Given the description of an element on the screen output the (x, y) to click on. 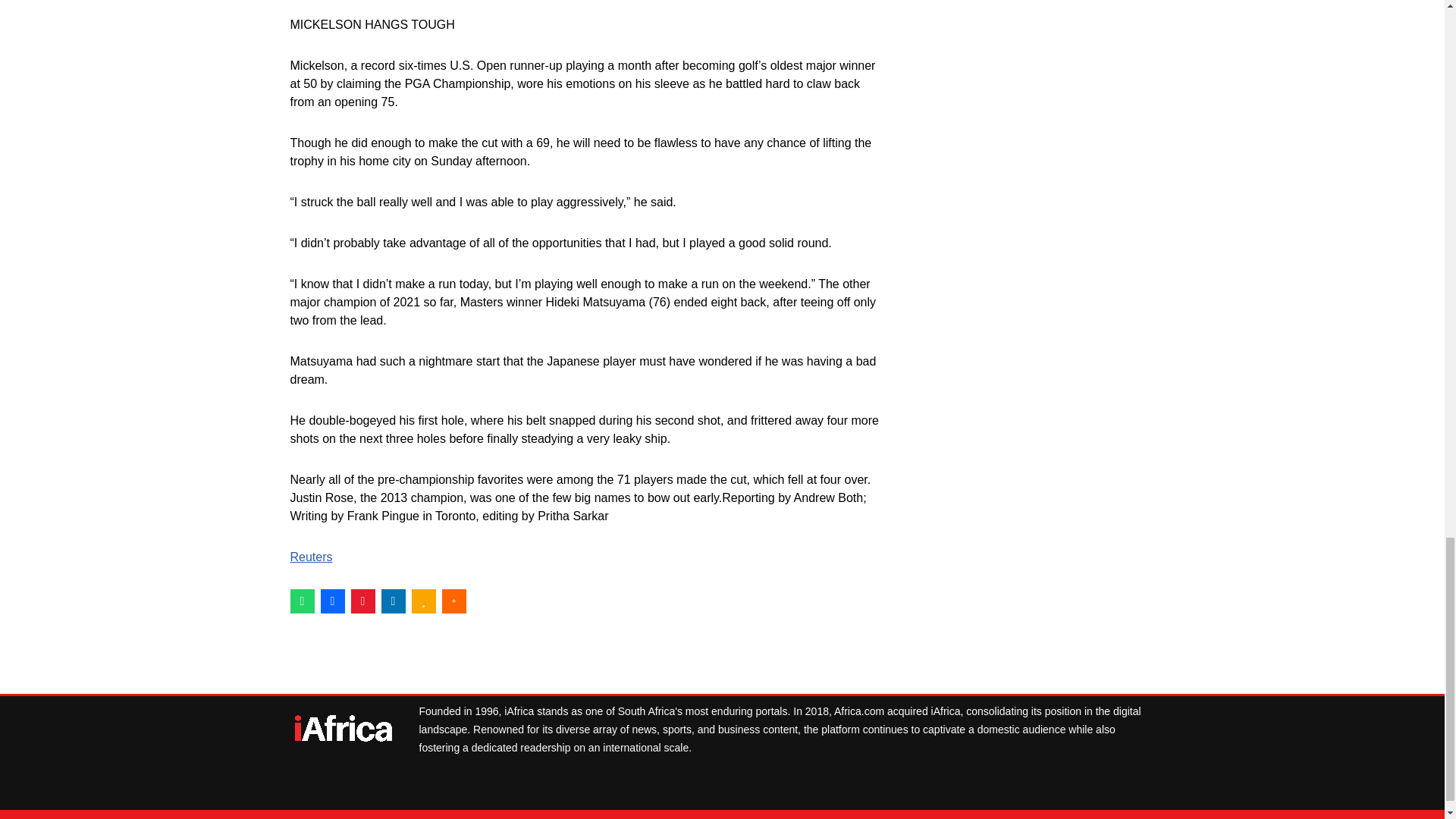
WhatsApp (301, 600)
Reuters (310, 556)
Add to favorites (422, 600)
Add this to LinkedIn (392, 600)
More share links (453, 600)
Convert to PDF (362, 600)
Share this on Facebook (331, 600)
